Given the description of an element on the screen output the (x, y) to click on. 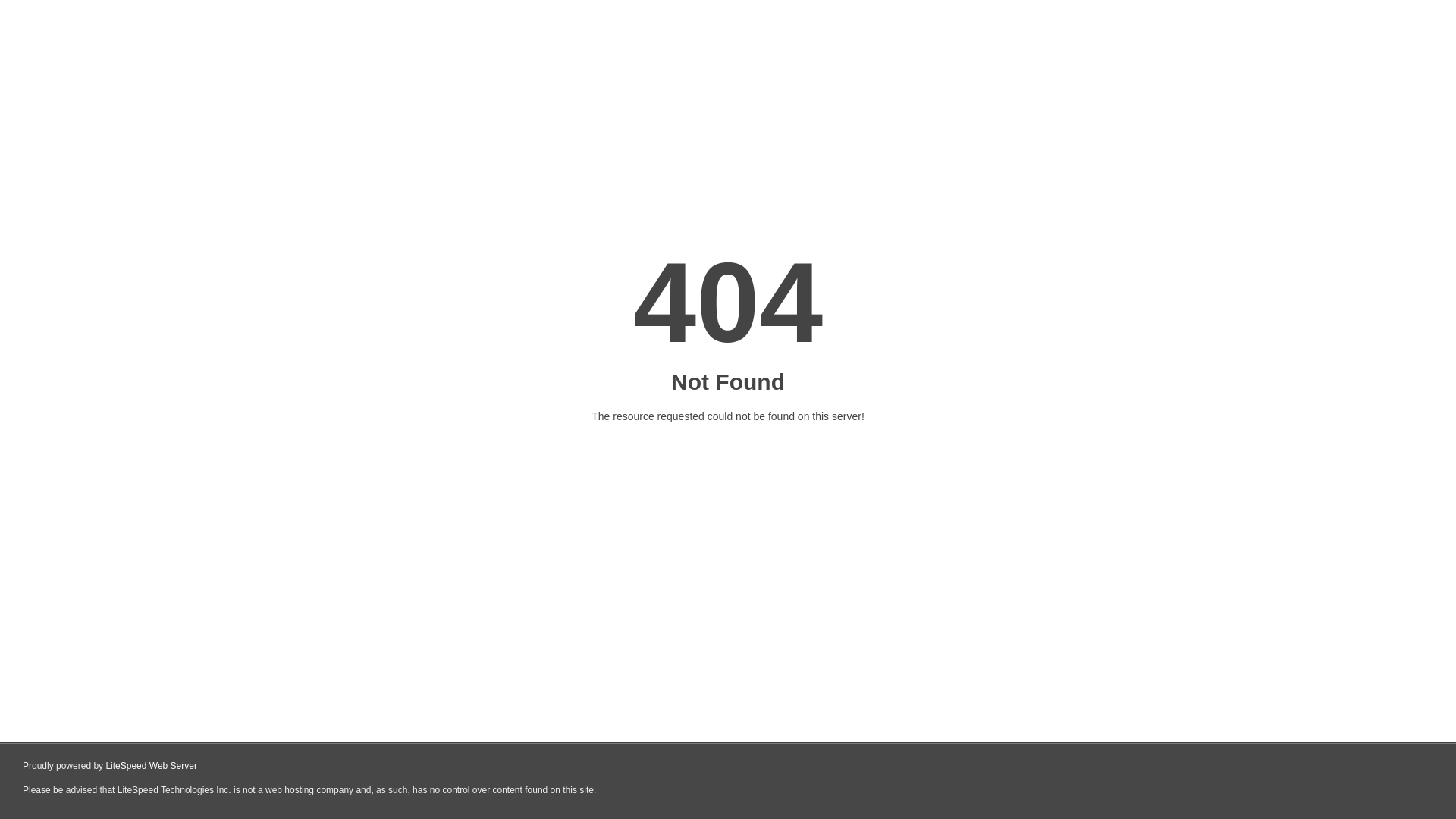
LiteSpeed Web Server Element type: text (151, 765)
